Given the description of an element on the screen output the (x, y) to click on. 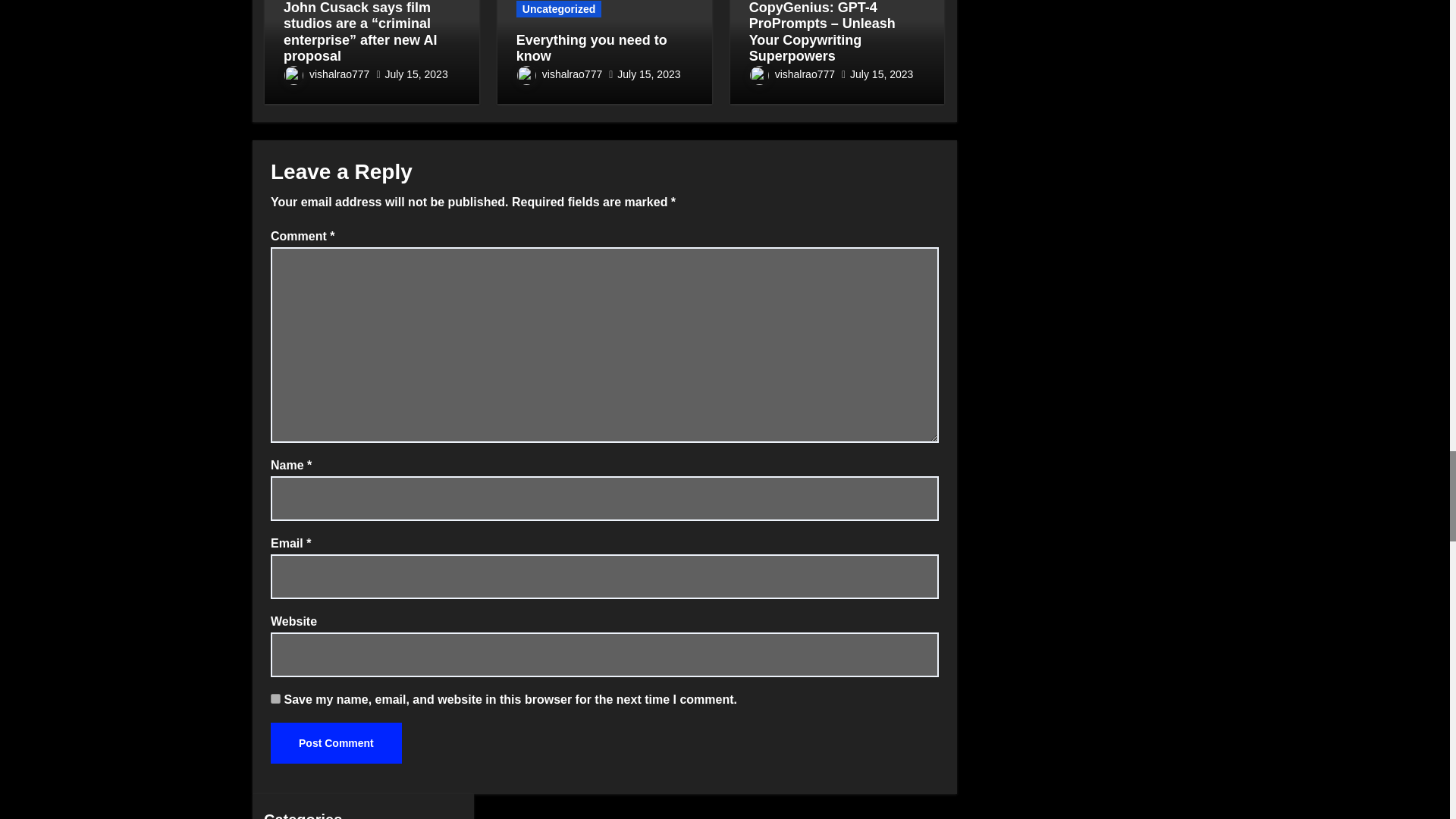
yes (275, 698)
Permalink to: Everything you need to know (591, 48)
Post Comment (335, 742)
